Given the description of an element on the screen output the (x, y) to click on. 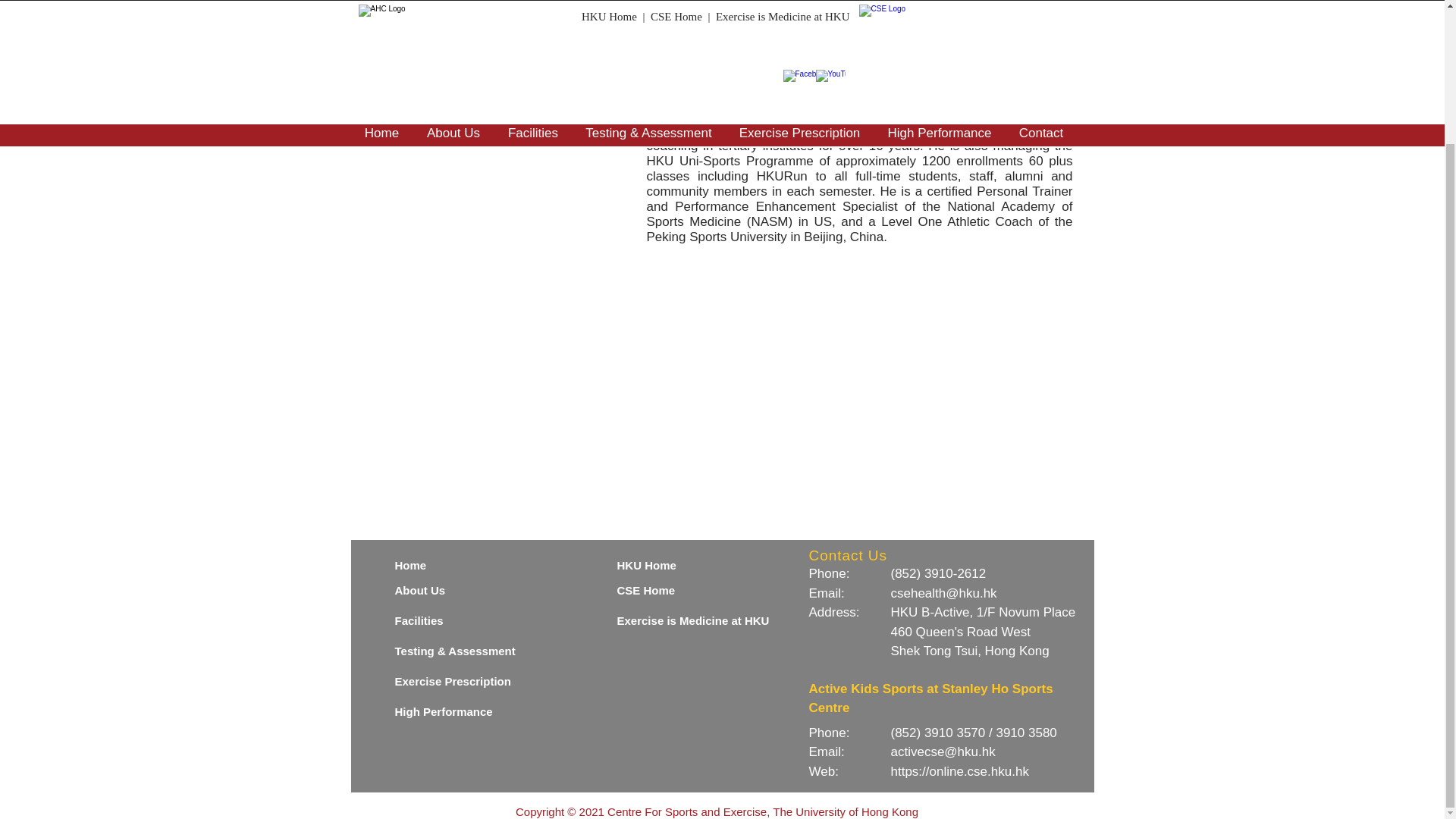
Back (1032, 12)
Exercise Prescription (460, 681)
Media Coverage (424, 112)
Home (460, 565)
High Performance (460, 711)
About Us (460, 590)
Facilities (460, 620)
Our Team (424, 62)
